Given the description of an element on the screen output the (x, y) to click on. 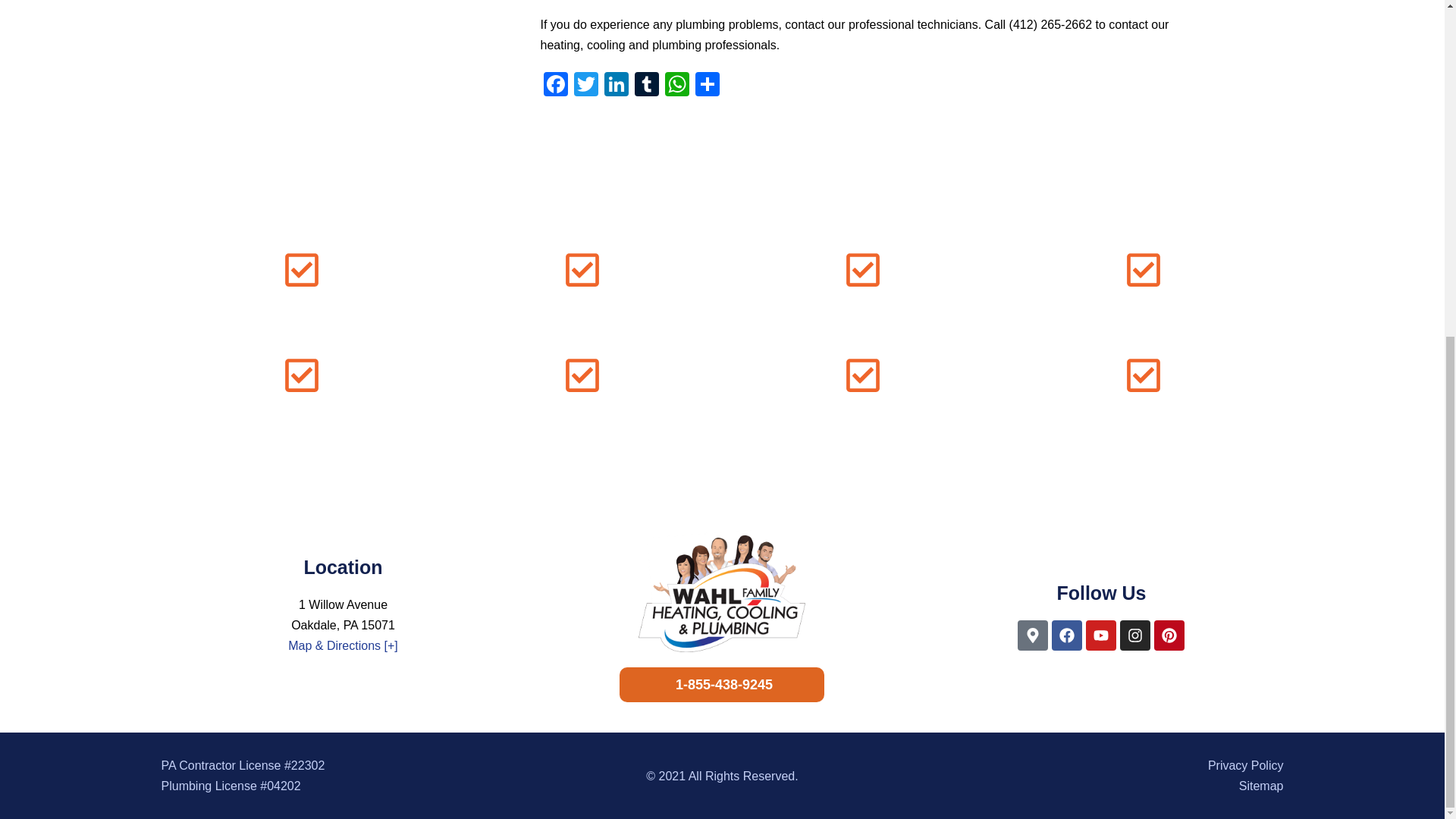
WhatsApp (676, 85)
LinkedIn (614, 85)
Facebook (555, 85)
Tumblr (645, 85)
Twitter (584, 85)
